Given the description of an element on the screen output the (x, y) to click on. 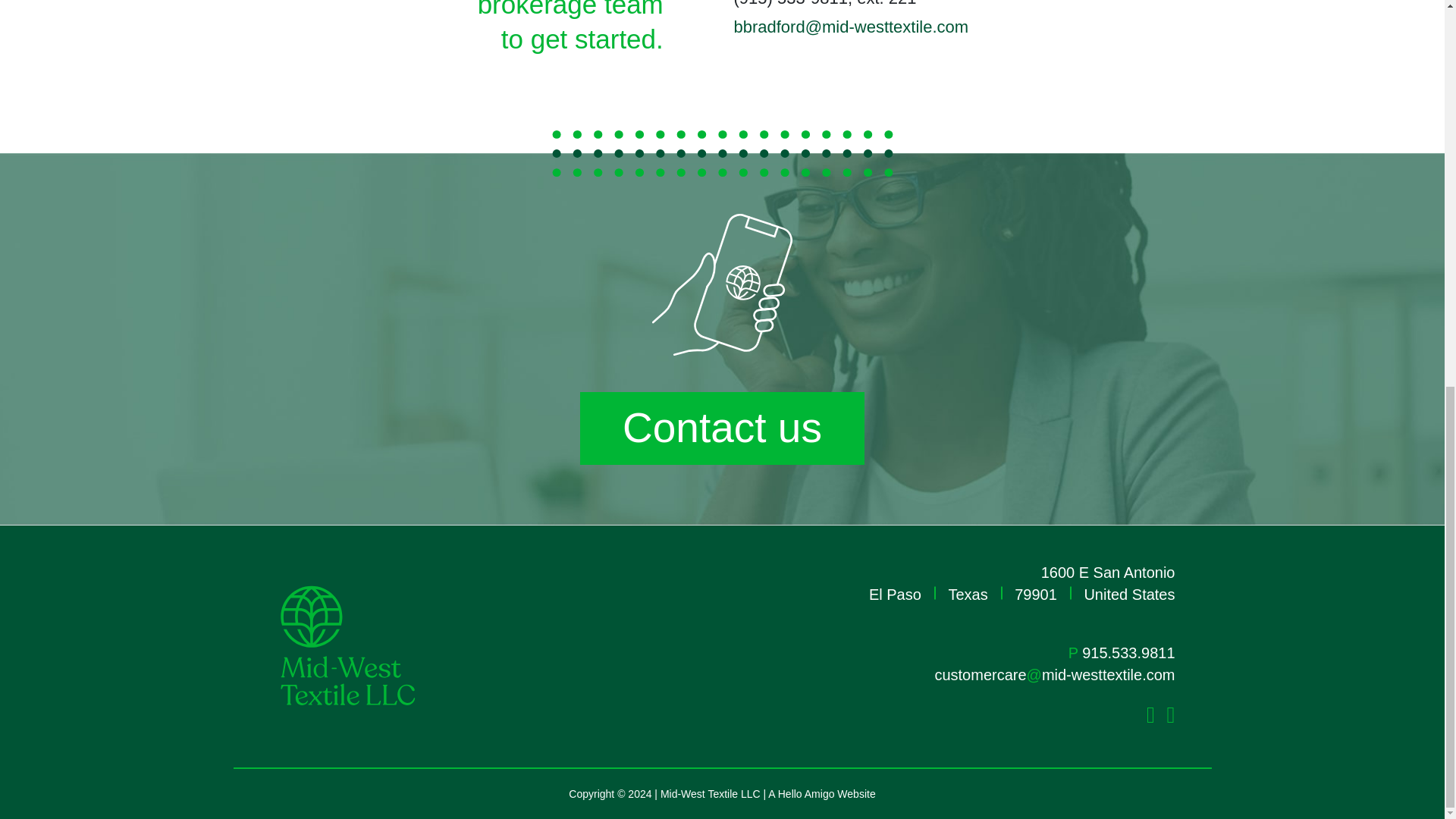
Contact us (721, 428)
Hello Amigo (805, 793)
915.533.9811 (1127, 652)
